Given the description of an element on the screen output the (x, y) to click on. 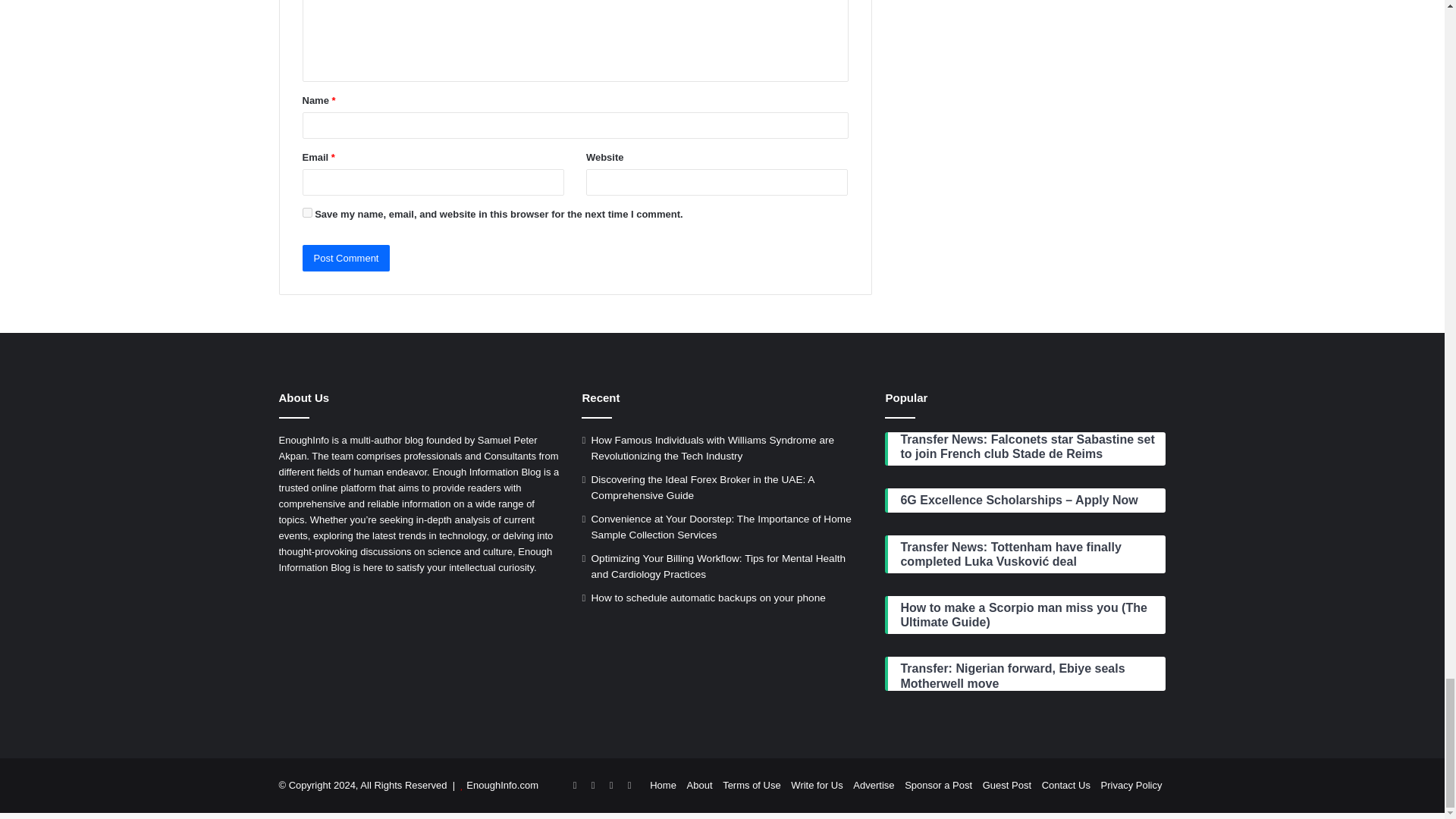
Post Comment (345, 257)
yes (306, 212)
